Given the description of an element on the screen output the (x, y) to click on. 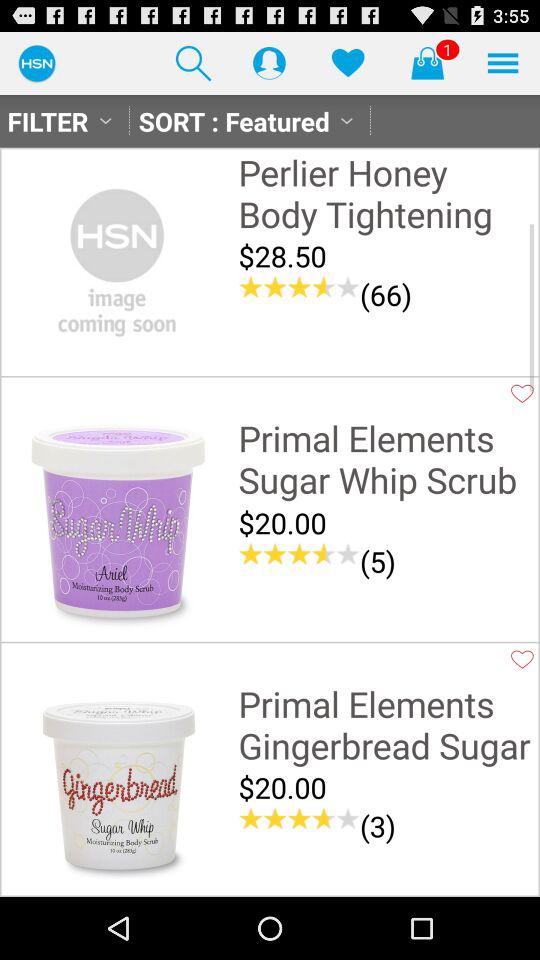
go to profile page (269, 62)
